Given the description of an element on the screen output the (x, y) to click on. 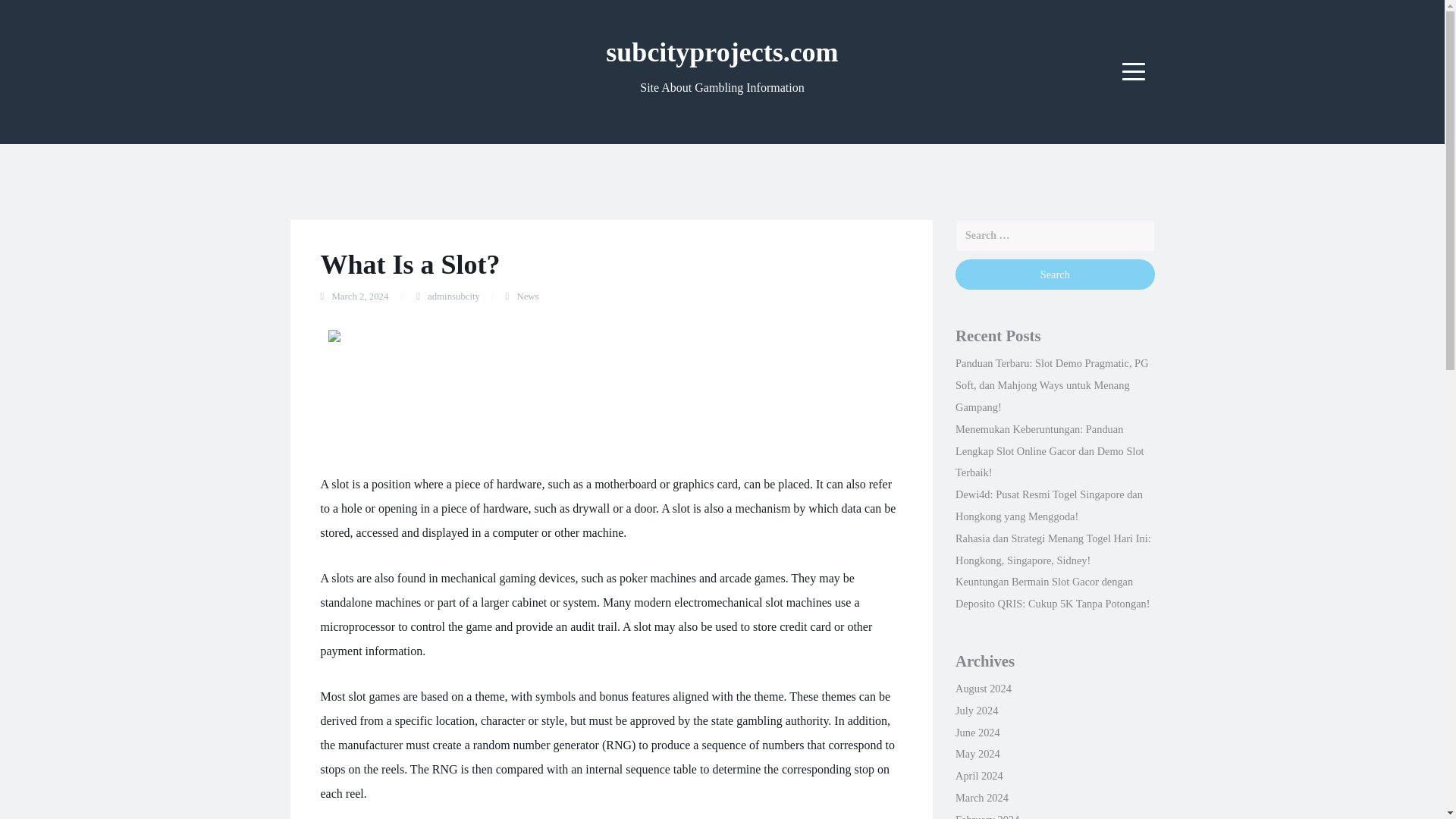
subcityprojects.com (721, 51)
News (527, 296)
Search (1054, 274)
August 2024 (983, 688)
April 2024 (979, 775)
July 2024 (976, 710)
June 2024 (977, 732)
